Given the description of an element on the screen output the (x, y) to click on. 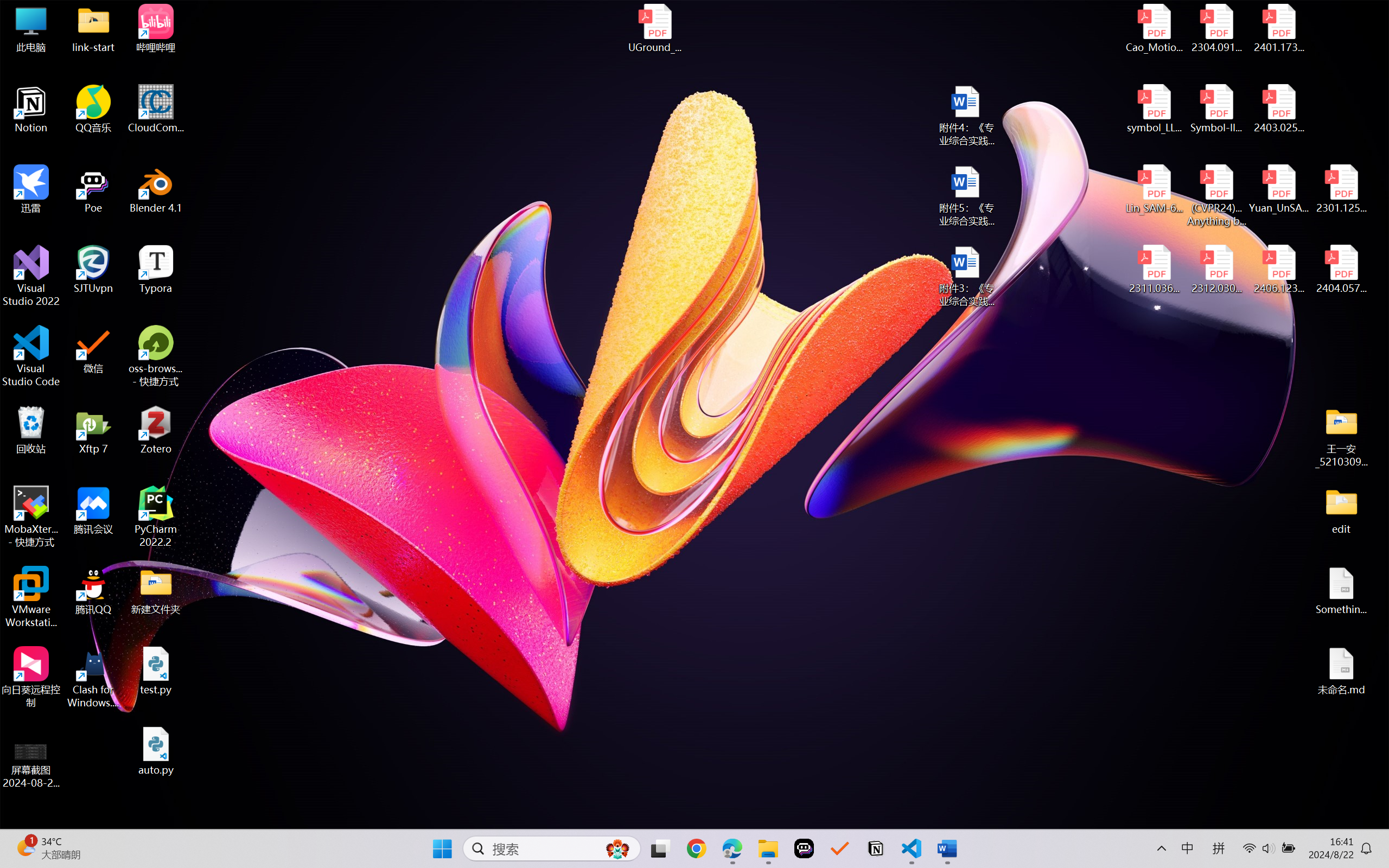
Google Chrome (696, 848)
edit (1340, 510)
CloudCompare (156, 109)
2304.09121v3.pdf (1216, 28)
Poe (804, 848)
2403.02502v1.pdf (1278, 109)
